Given the description of an element on the screen output the (x, y) to click on. 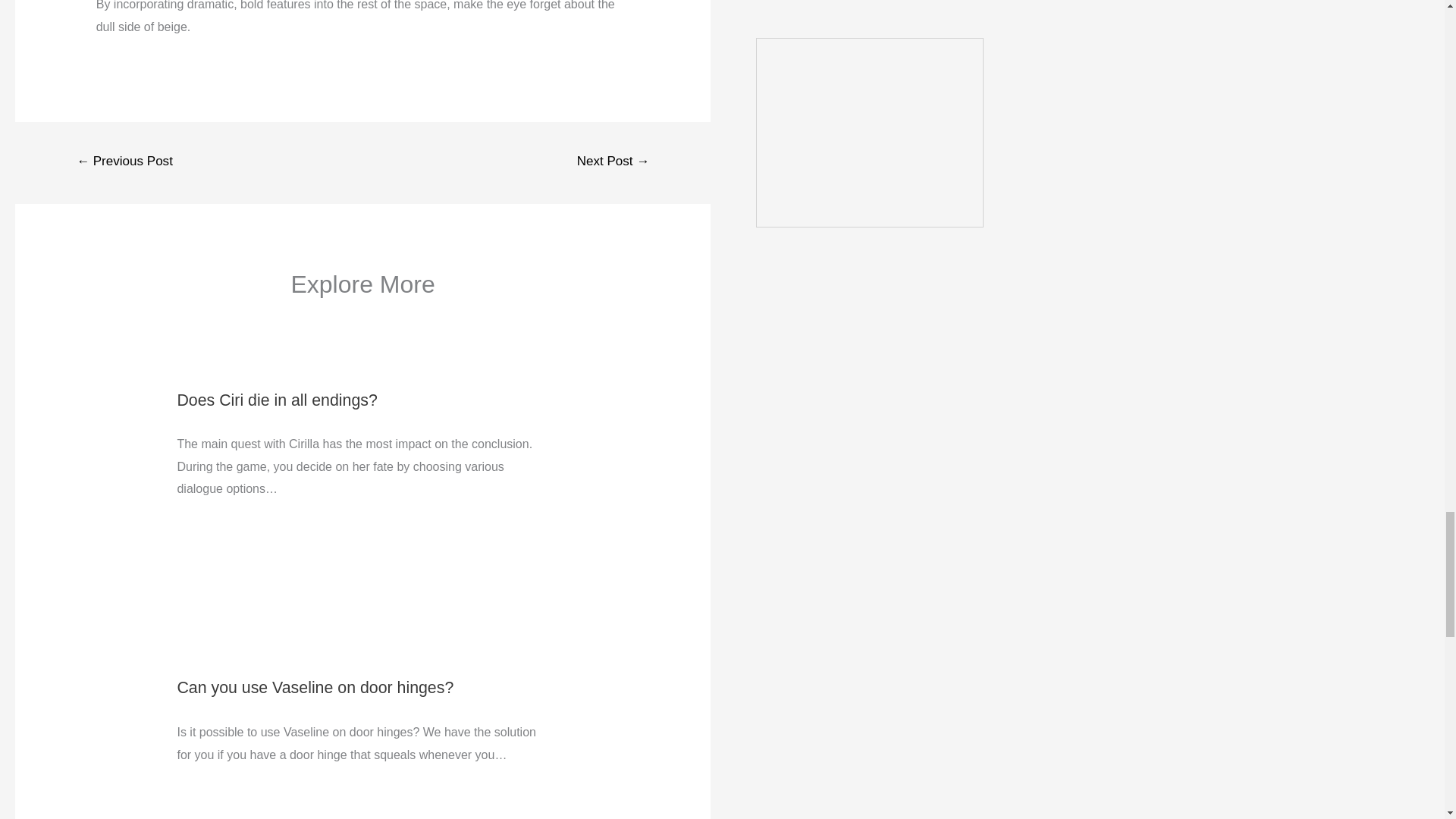
Does Ciri die in all endings? (276, 400)
Can you use Vaseline on door hinges? (314, 687)
